Given the description of an element on the screen output the (x, y) to click on. 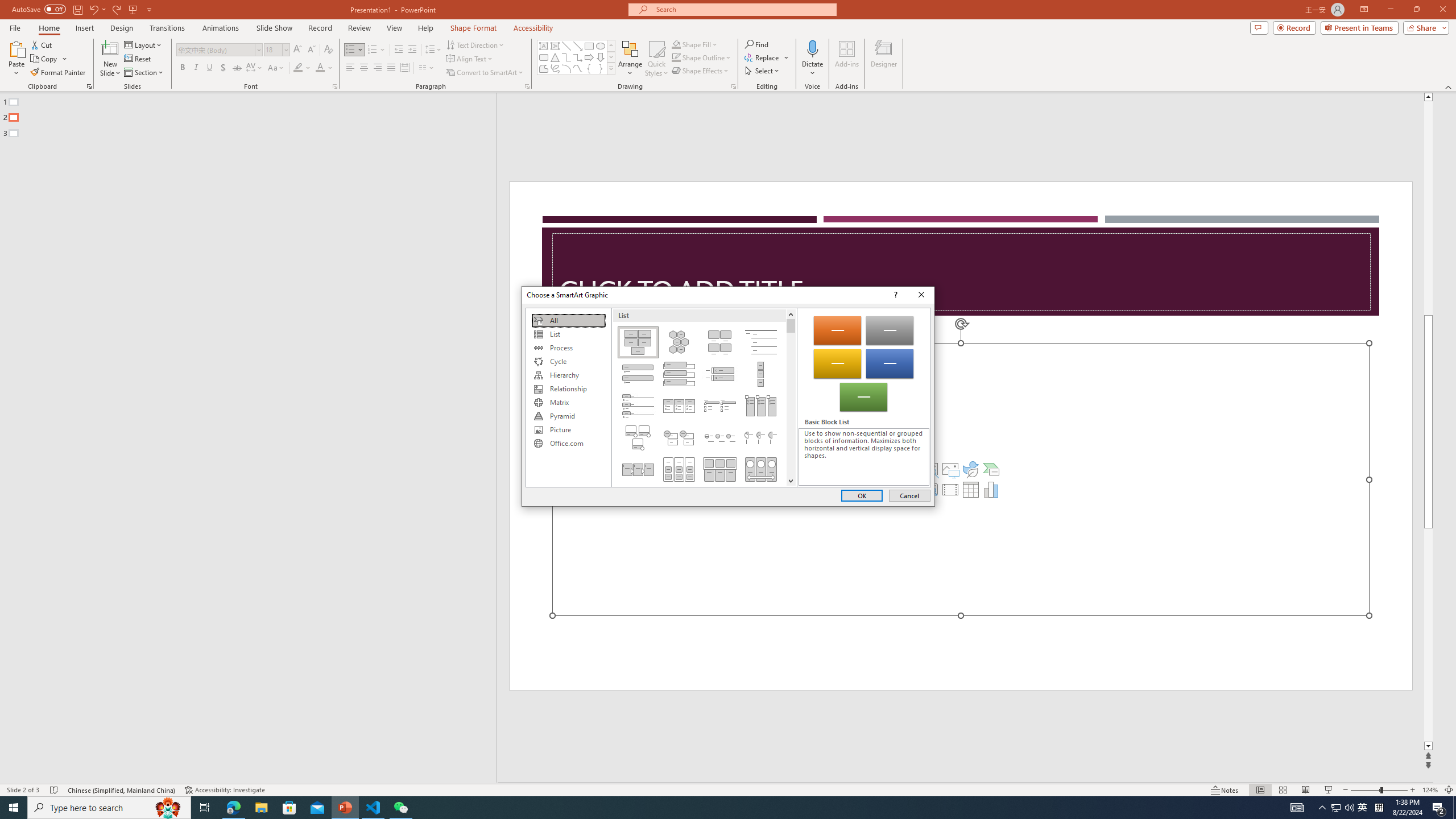
Process (568, 347)
